Given the description of an element on the screen output the (x, y) to click on. 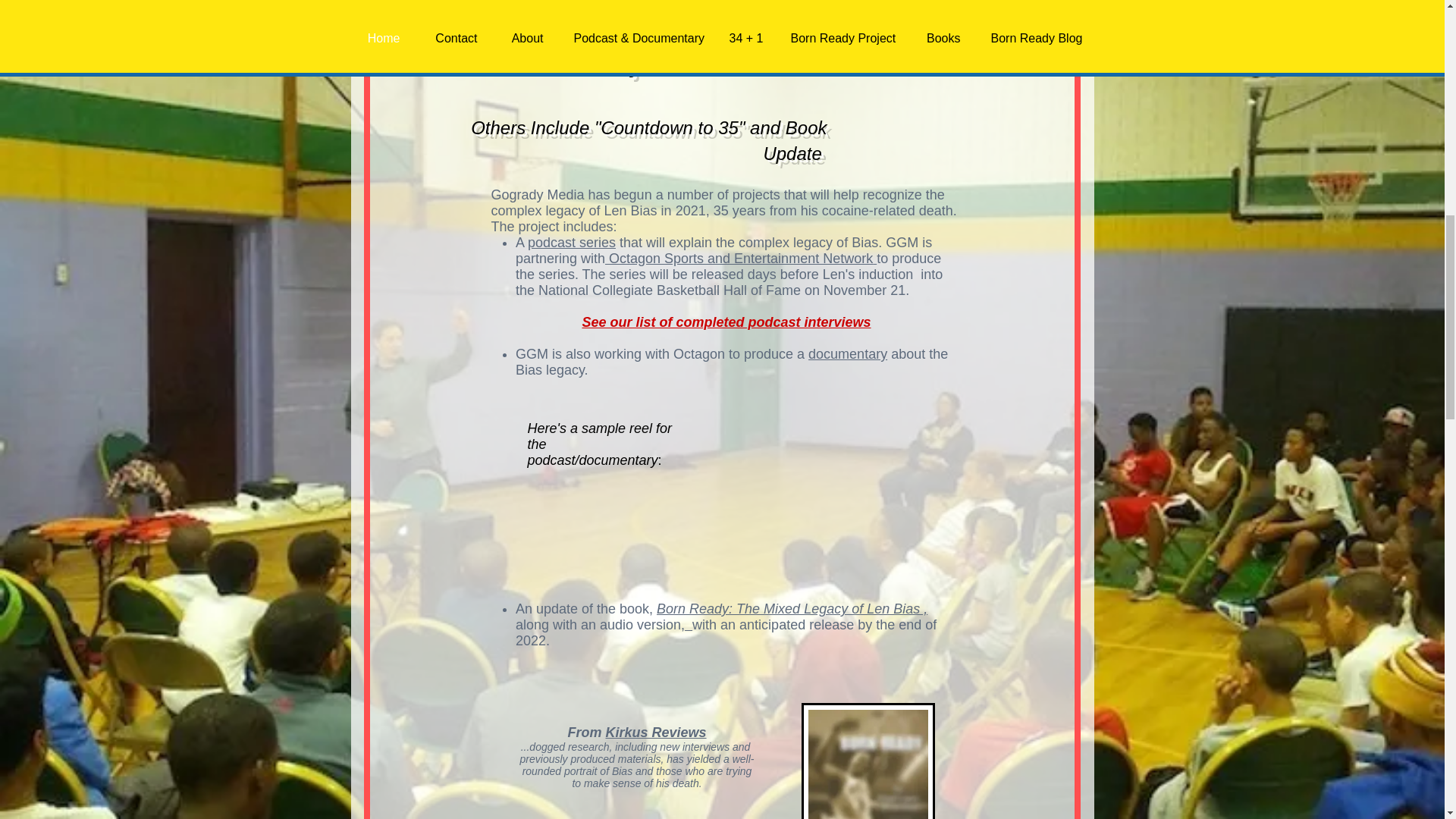
documentary (847, 353)
Born Ready: The Mixed Legacy of Len Bias , (791, 608)
Kirkus Reviews (655, 732)
See our list of completed podcast interviews (725, 322)
Octagon Sports and Entertainment Network (740, 258)
podcast series (571, 242)
along with an audio version, (599, 624)
